Given the description of an element on the screen output the (x, y) to click on. 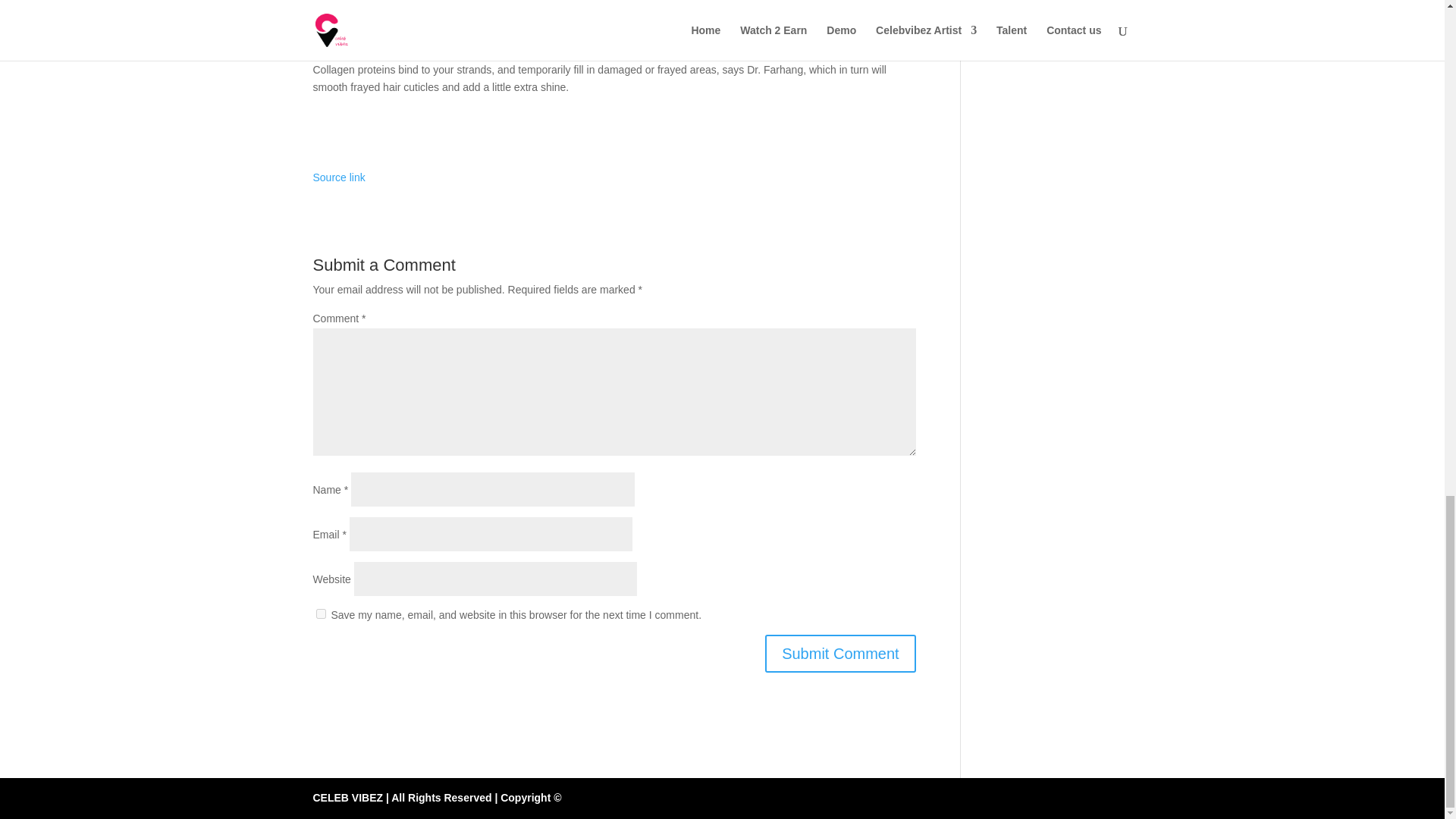
Submit Comment (840, 653)
yes (319, 614)
Source link (339, 177)
Submit Comment (840, 653)
